Given the description of an element on the screen output the (x, y) to click on. 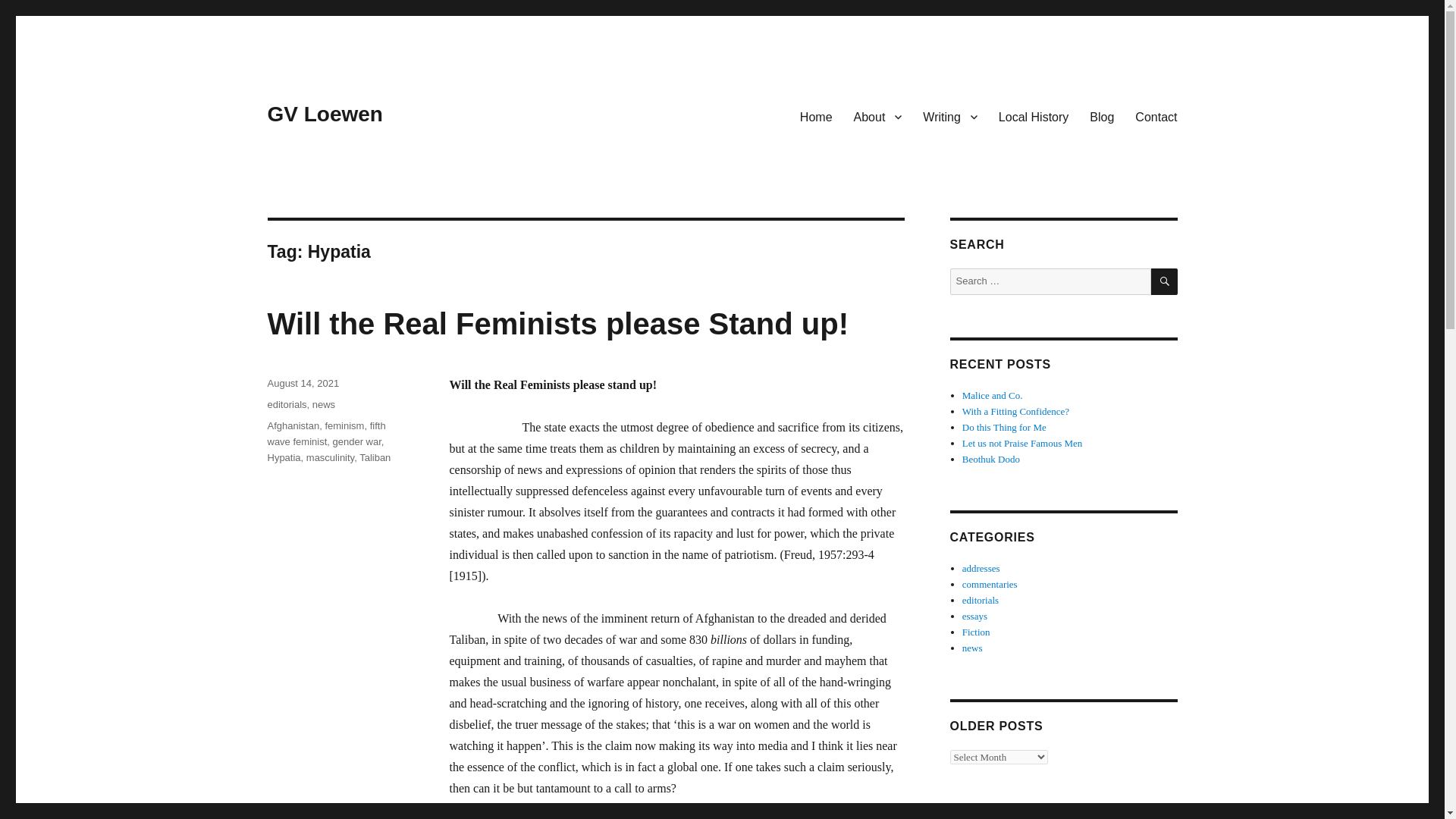
Malice and Co. (992, 395)
fifth wave feminist (325, 433)
With a Fitting Confidence? (1015, 410)
Hypatia (282, 457)
Writing (950, 116)
Afghanistan (292, 425)
Contact (1156, 116)
SEARCH (1164, 281)
editorials (980, 600)
Blog (1101, 116)
